Given the description of an element on the screen output the (x, y) to click on. 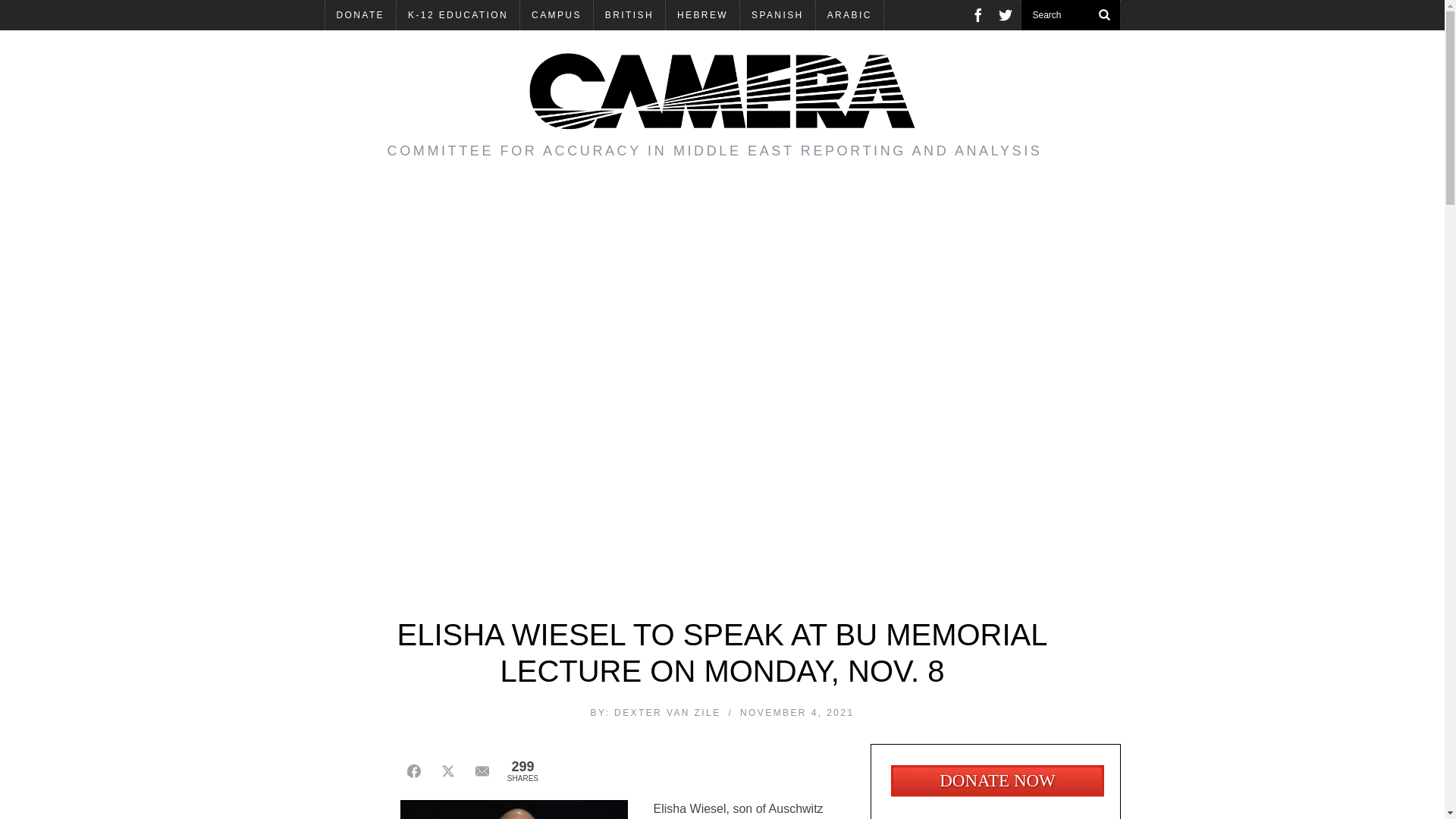
SPANISH (777, 14)
DONATE (360, 14)
K-12 EDUCATION (457, 14)
Share on E-mail (482, 770)
BRITISH (629, 14)
ARABIC (849, 14)
HEBREW (702, 14)
CAMPUS (555, 14)
Share on Facebook (414, 770)
Share on Twitter (447, 770)
